Given the description of an element on the screen output the (x, y) to click on. 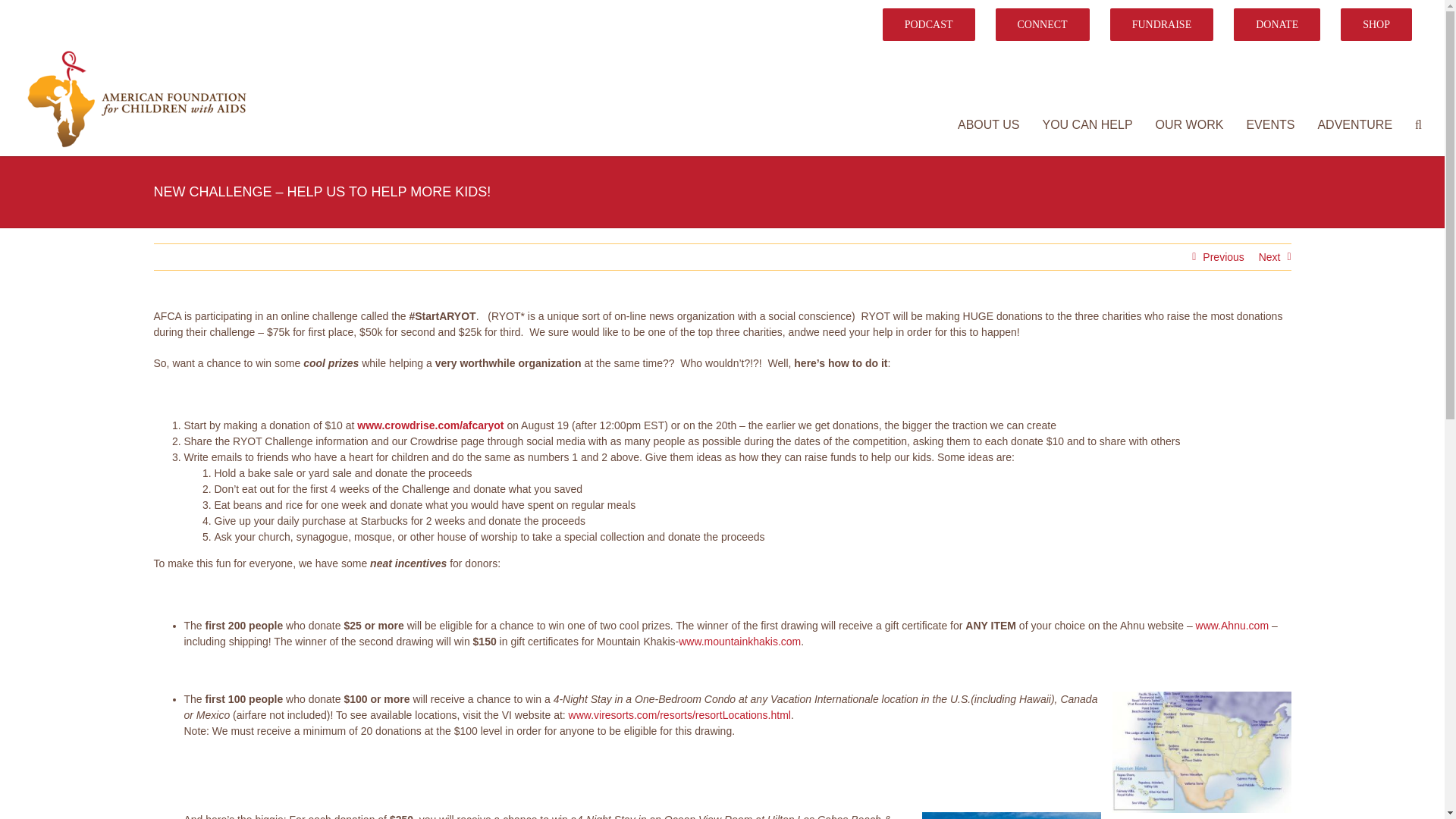
SHOP (1376, 24)
DONATE (1277, 24)
FUNDRAISE (1162, 24)
PODCAST (928, 24)
ABOUT US (989, 125)
CONNECT (1042, 24)
